Given the description of an element on the screen output the (x, y) to click on. 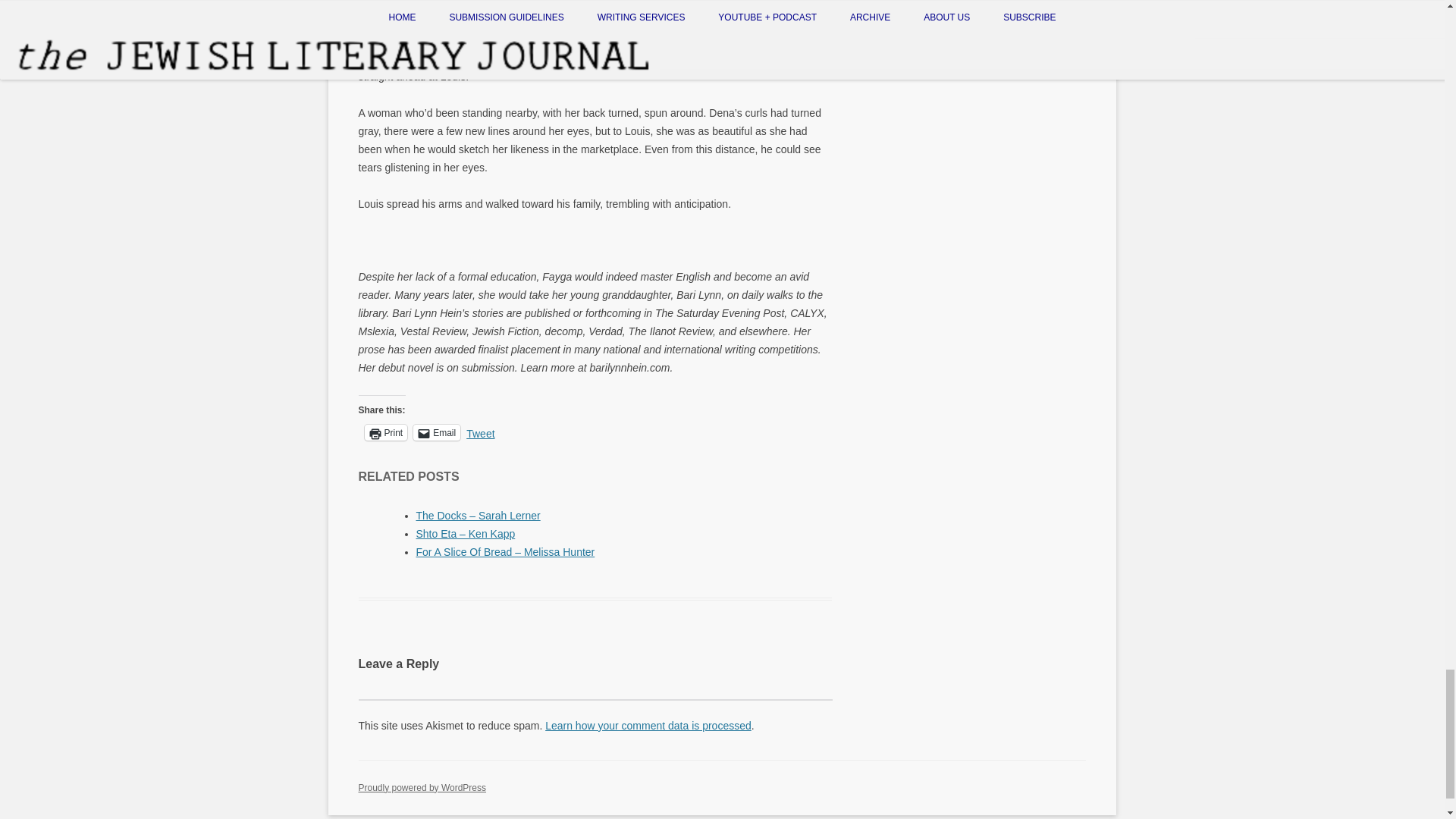
Proudly powered by WordPress (422, 787)
Click to print (385, 432)
Learn how your comment data is processed (647, 725)
Tweet (480, 431)
Print (385, 432)
Click to email a link to a friend (436, 432)
Email (436, 432)
Semantic Personal Publishing Platform (422, 787)
